Given the description of an element on the screen output the (x, y) to click on. 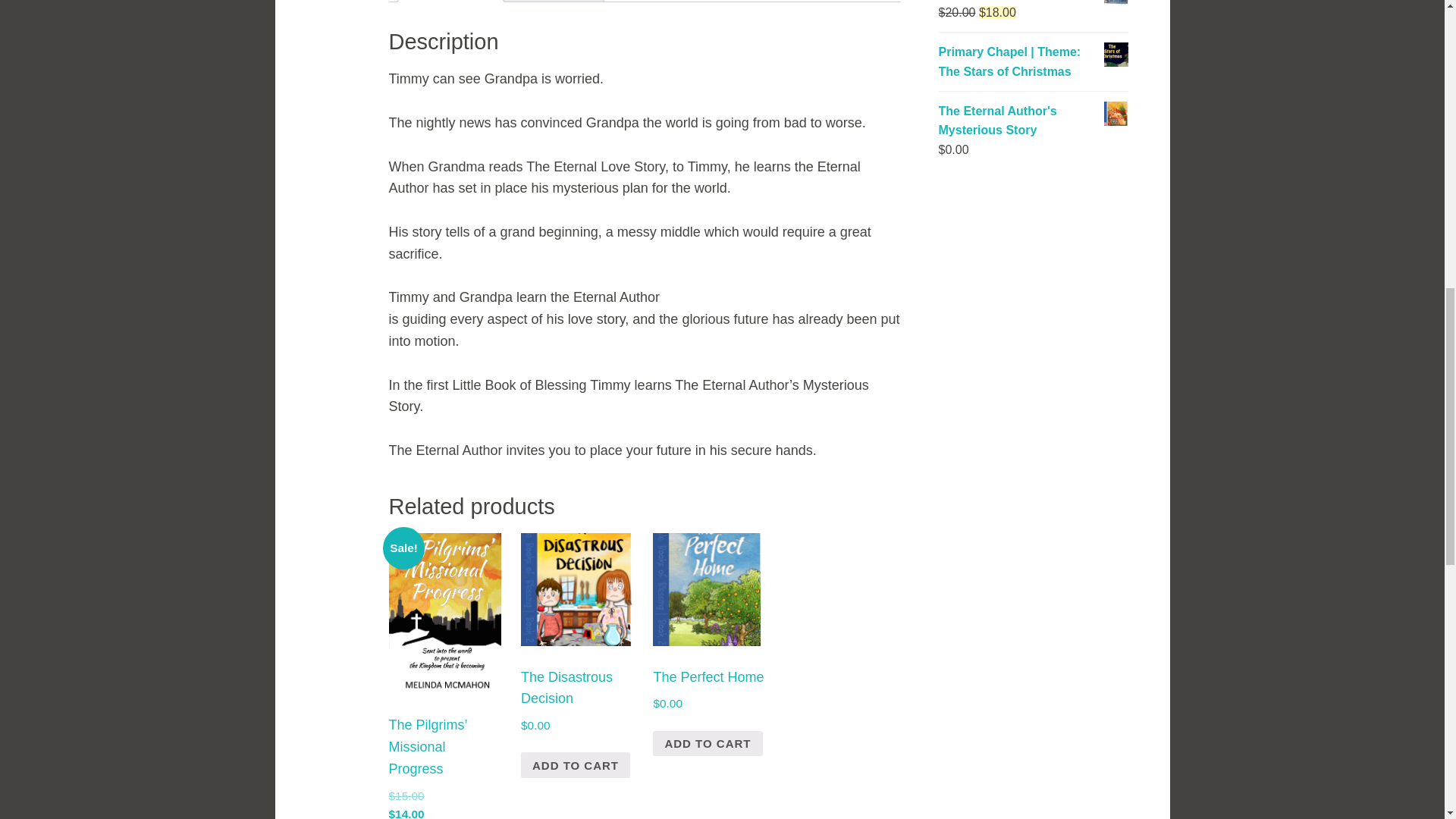
ADD TO CART (575, 765)
ADD TO CART (706, 743)
Description (449, 0)
